Given the description of an element on the screen output the (x, y) to click on. 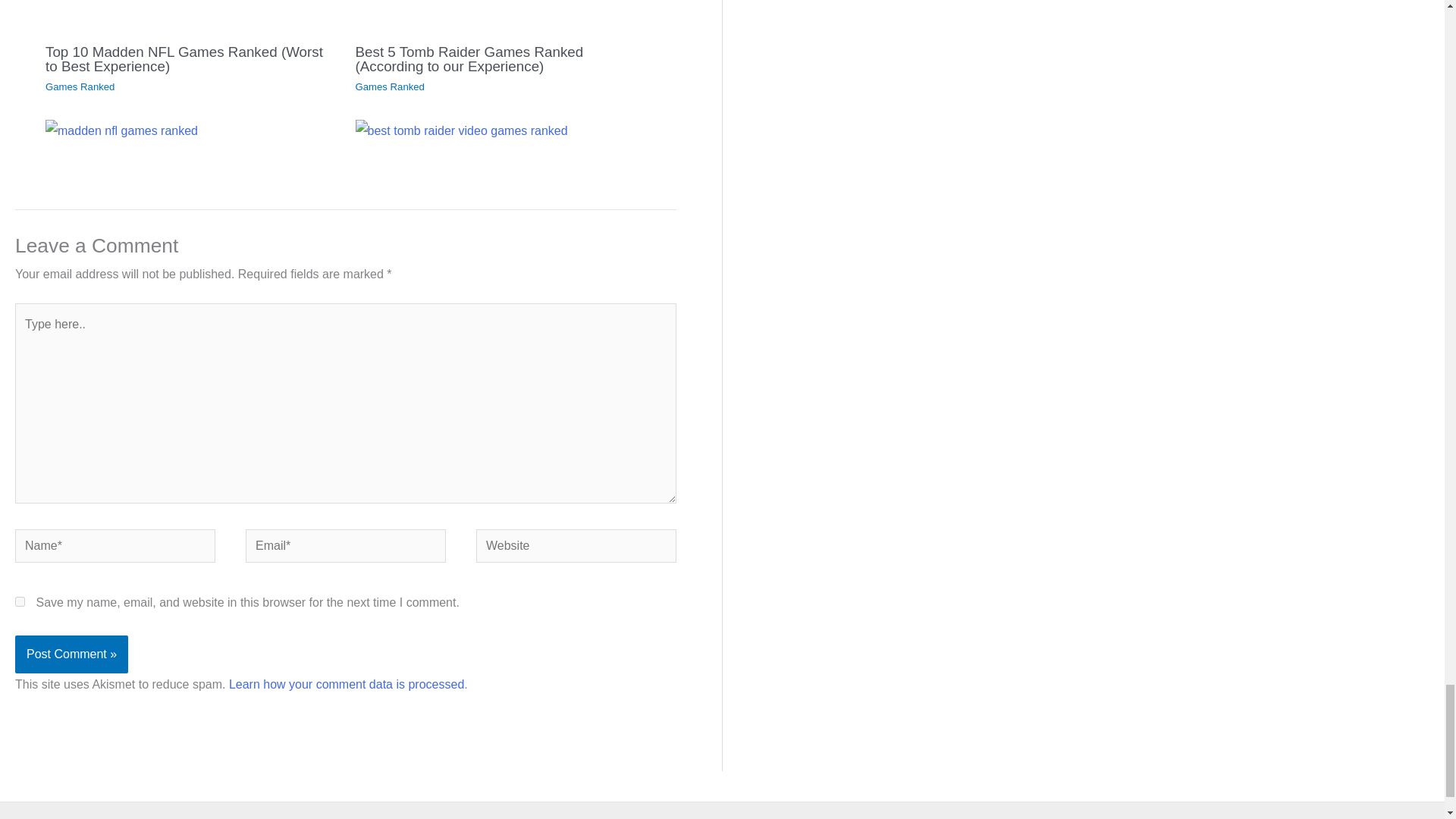
yes (19, 601)
